Given the description of an element on the screen output the (x, y) to click on. 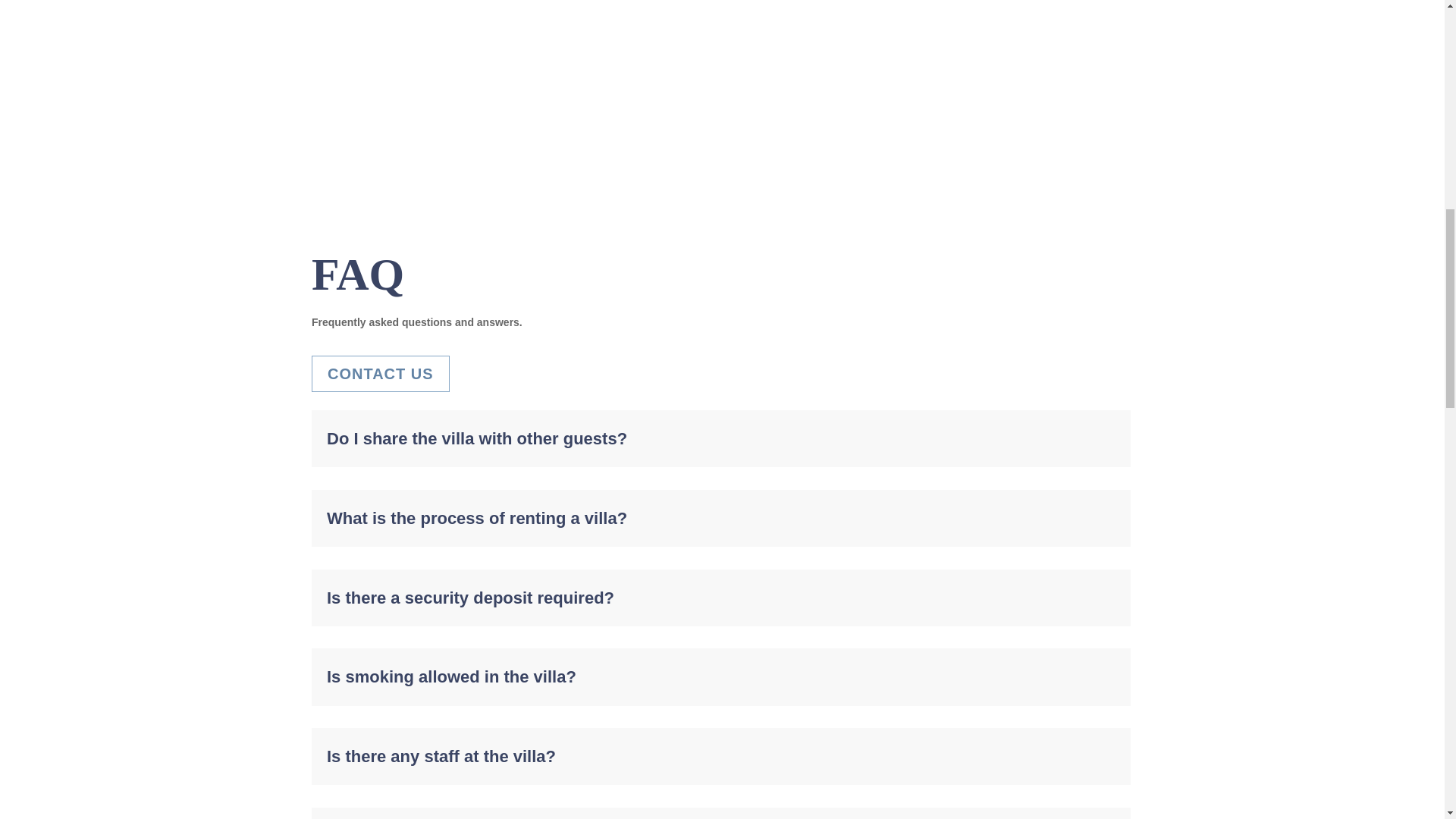
CONTACT US (380, 373)
